Given the description of an element on the screen output the (x, y) to click on. 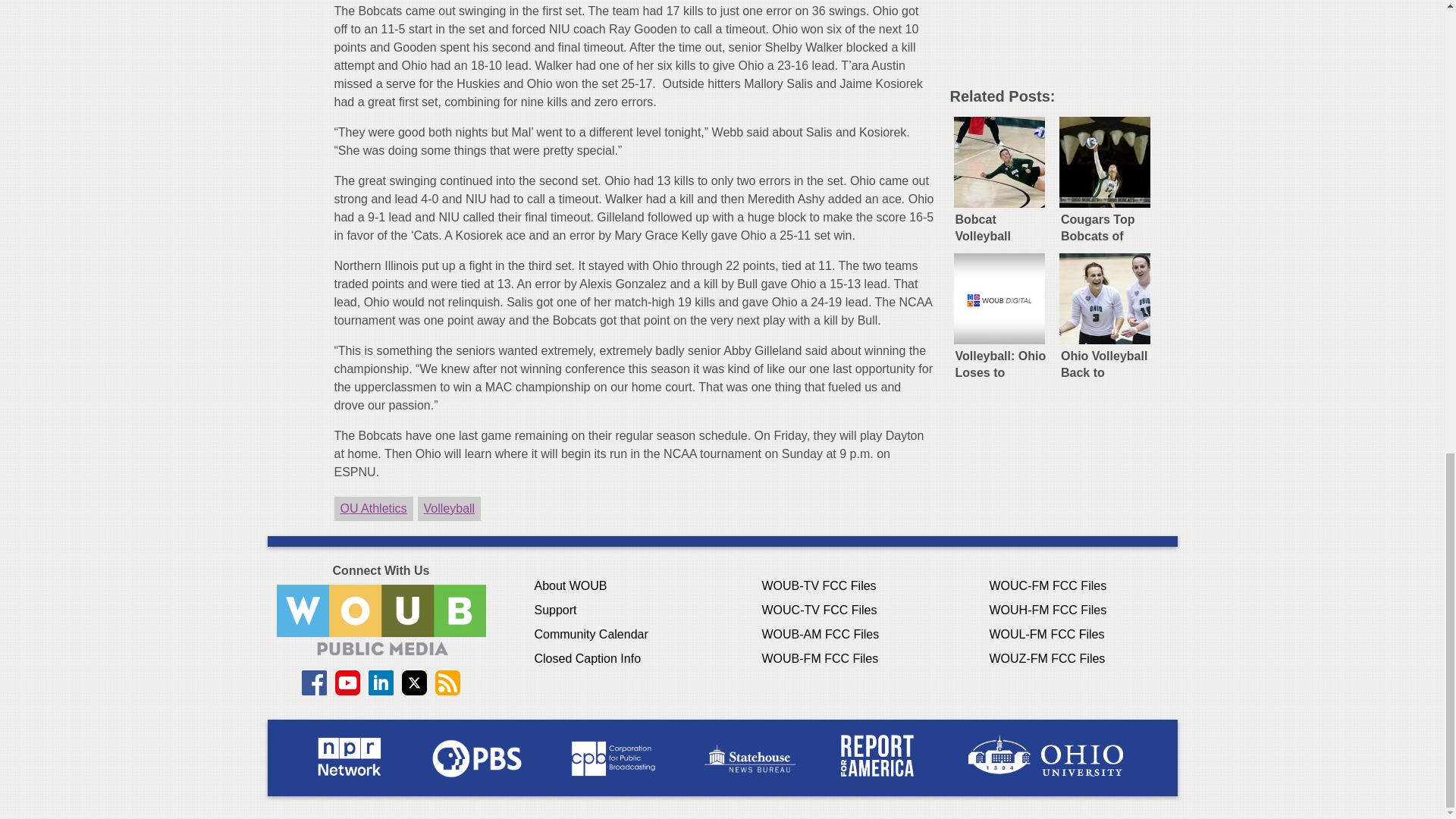
3rd party ad content (1062, 37)
Volleyball (449, 508)
OU Athletics (372, 508)
